Given the description of an element on the screen output the (x, y) to click on. 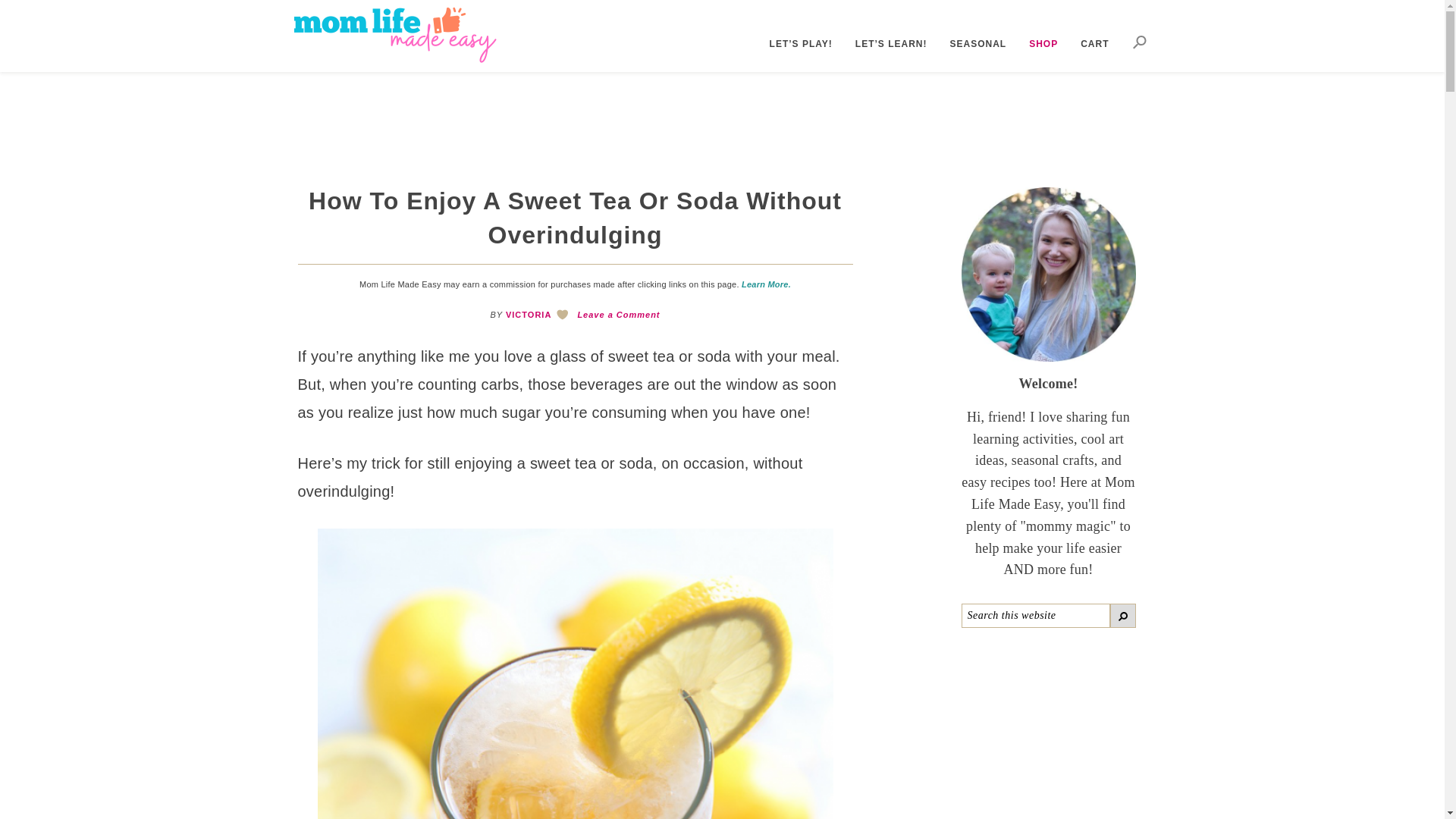
Leave a Comment (617, 314)
VICTORIA (528, 314)
MOM LIFE MADE EASY (405, 34)
SEASONAL (968, 43)
Learn More. (765, 284)
